Given the description of an element on the screen output the (x, y) to click on. 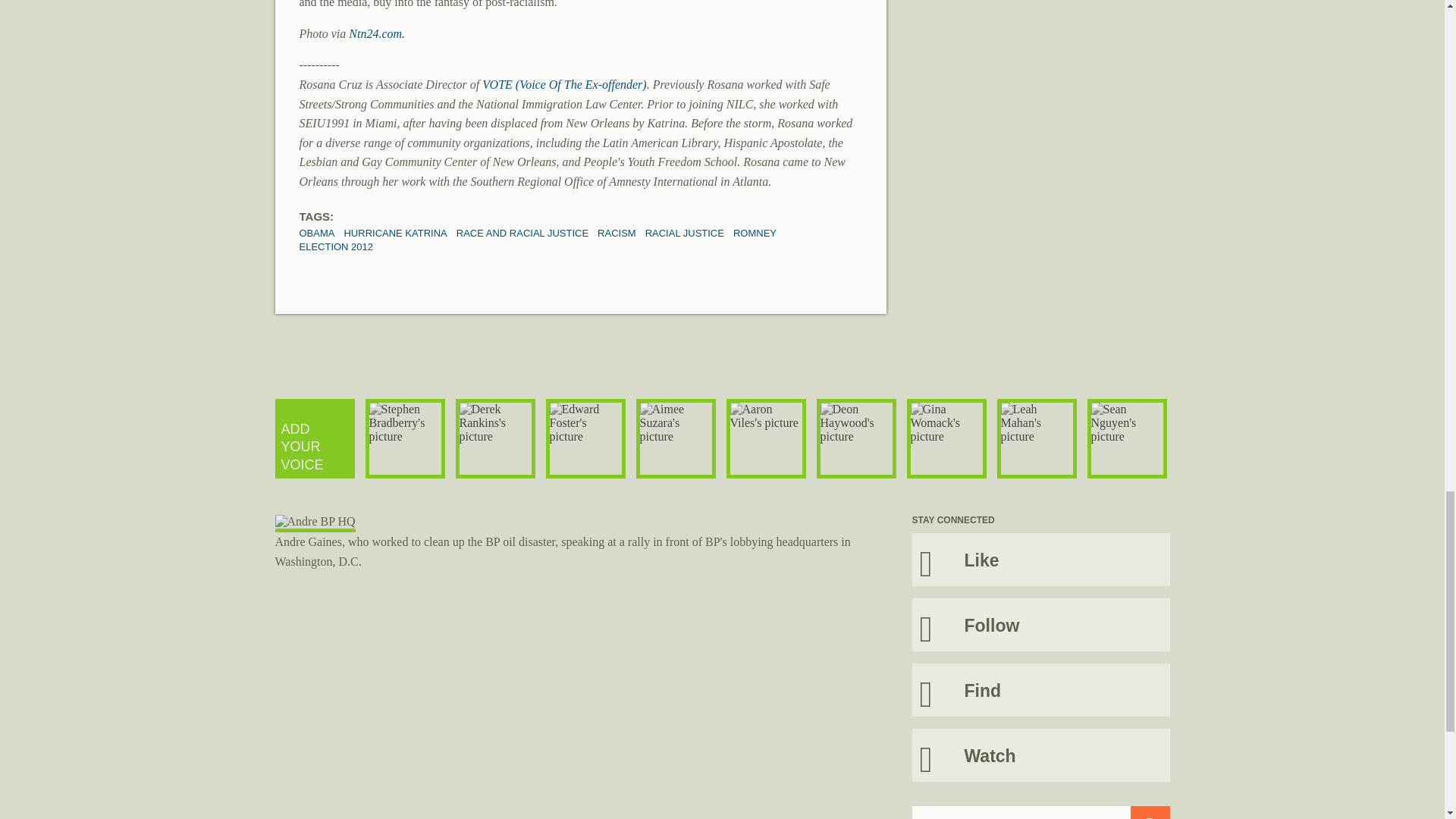
RACISM (616, 233)
OBAMA (316, 233)
HURRICANE KATRINA (394, 233)
ROMNEY (754, 233)
ELECTION 2012 (335, 246)
Ntn24.com. (376, 33)
RACE AND RACIAL JUSTICE (522, 233)
RACIAL JUSTICE (684, 233)
